Given the description of an element on the screen output the (x, y) to click on. 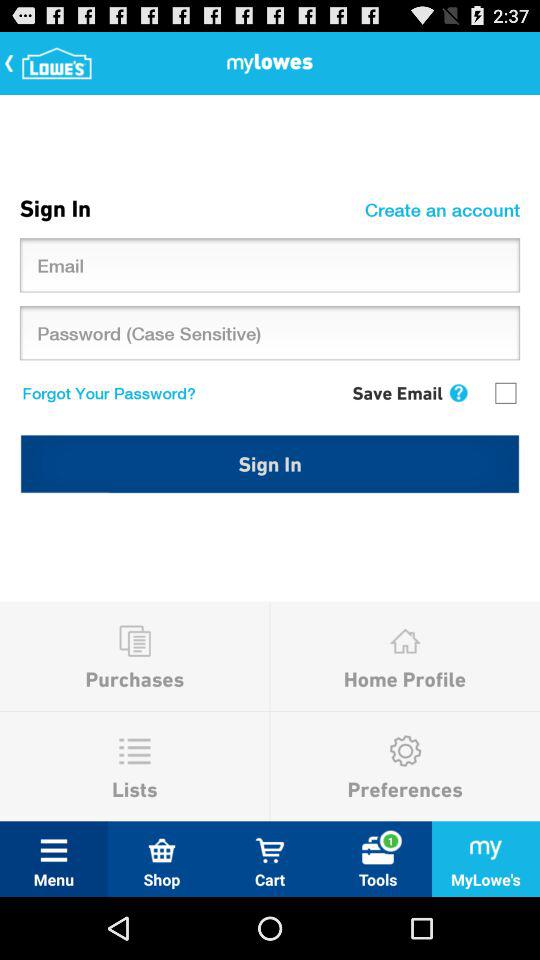
turn off the icon above the sign in (104, 392)
